Given the description of an element on the screen output the (x, y) to click on. 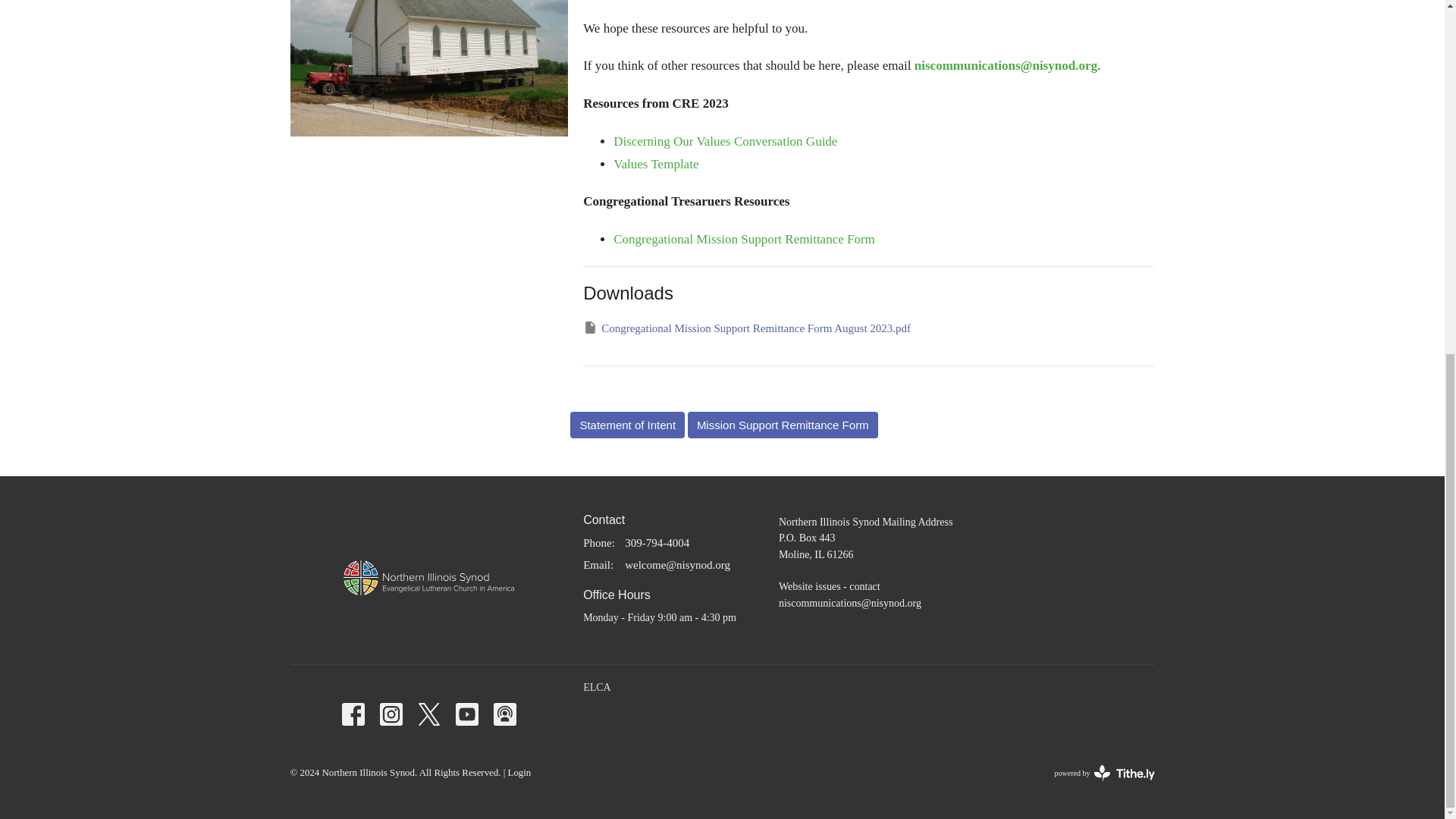
Congregational Mission Support Remittance Form (743, 238)
Discerning Our Values Conversation Guide (724, 141)
To download, right-click the file and select "Save link as". (747, 328)
translation missing: en.ui.email (596, 564)
Mission Support Remittance Form (782, 424)
Statement of Intent (627, 424)
Values Template (655, 164)
309-794-4004 (656, 543)
